Given the description of an element on the screen output the (x, y) to click on. 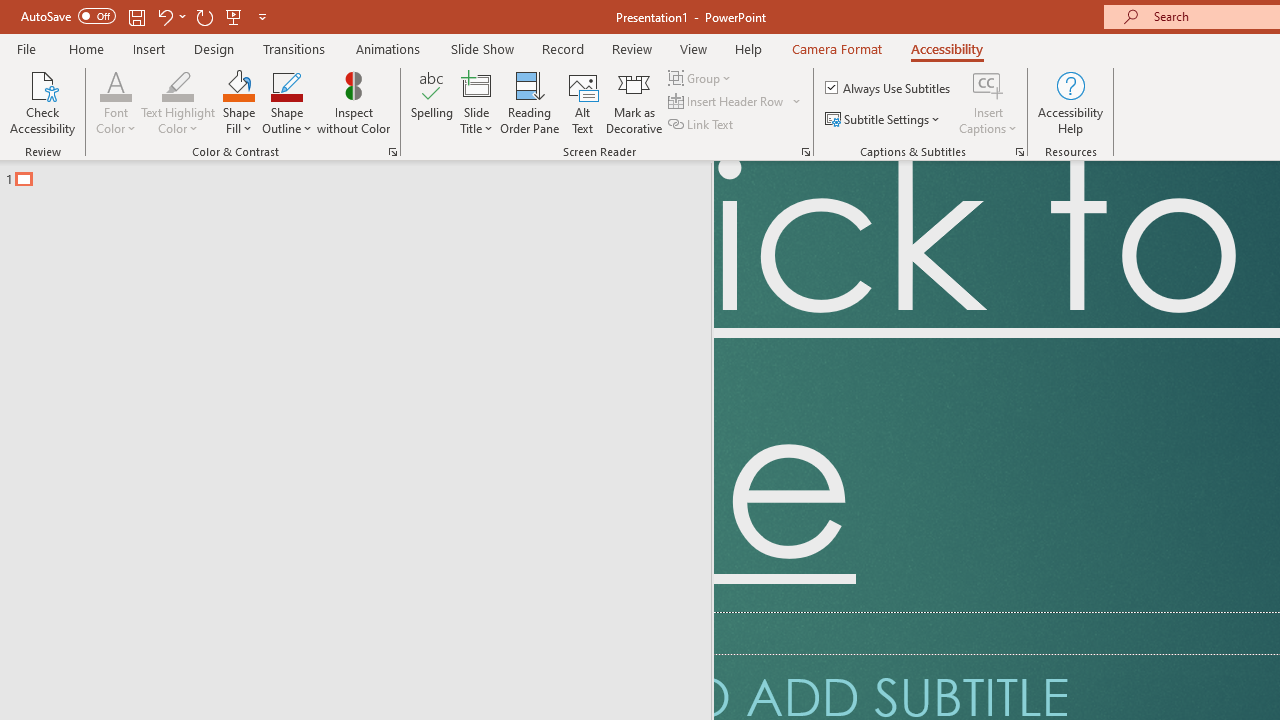
Camera Format (836, 48)
Color & Contrast (392, 151)
Group (701, 78)
Captions & Subtitles (1019, 151)
